Given the description of an element on the screen output the (x, y) to click on. 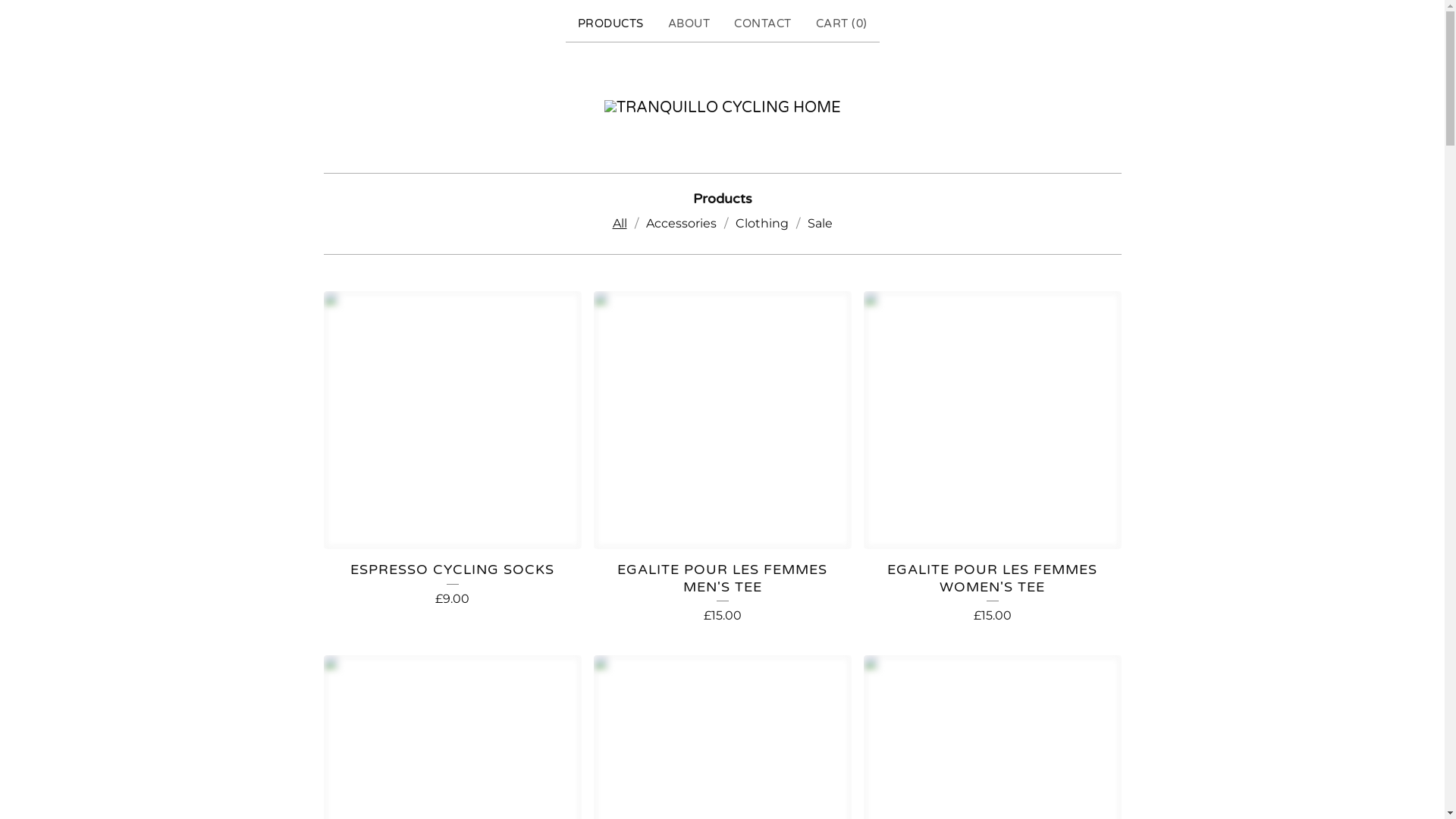
CONTACT Element type: text (762, 23)
CART (0) Element type: text (841, 23)
PRODUCTS Element type: text (610, 23)
Clothing Element type: text (762, 223)
ABOUT Element type: text (688, 23)
Home Element type: hover (721, 107)
All Element type: text (619, 223)
Accessories Element type: text (681, 223)
Sale Element type: text (819, 223)
